Given the description of an element on the screen output the (x, y) to click on. 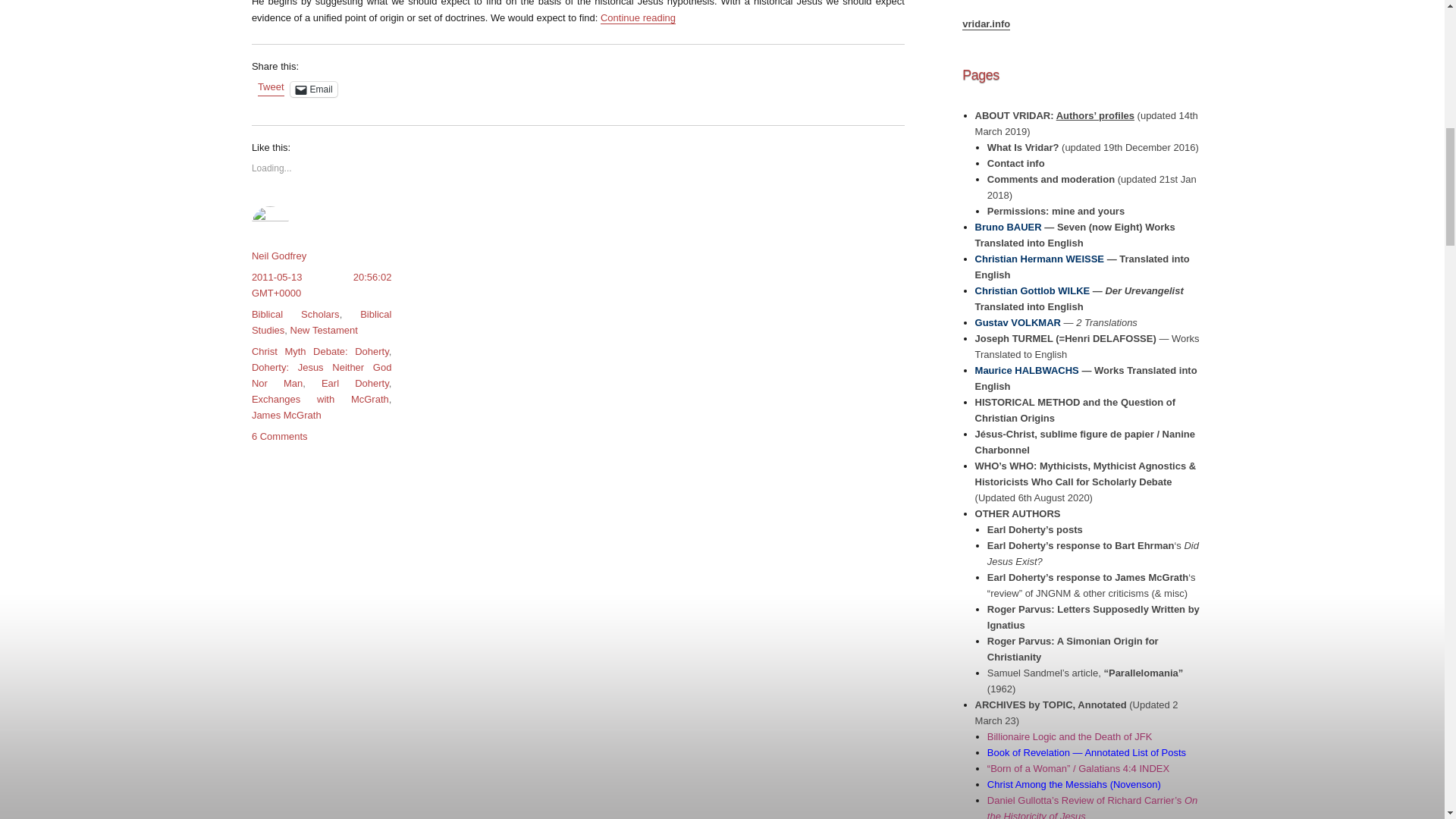
Biblical Studies (321, 321)
Biblical Scholars (295, 314)
6 Comments (279, 436)
Click to email a link to a friend (313, 89)
Tweet (270, 88)
Christ Myth Debate: Doherty (319, 351)
Neil Godfrey (278, 255)
James McGrath (286, 414)
Continue reading (637, 17)
Exchanges with McGrath (319, 398)
